Given the description of an element on the screen output the (x, y) to click on. 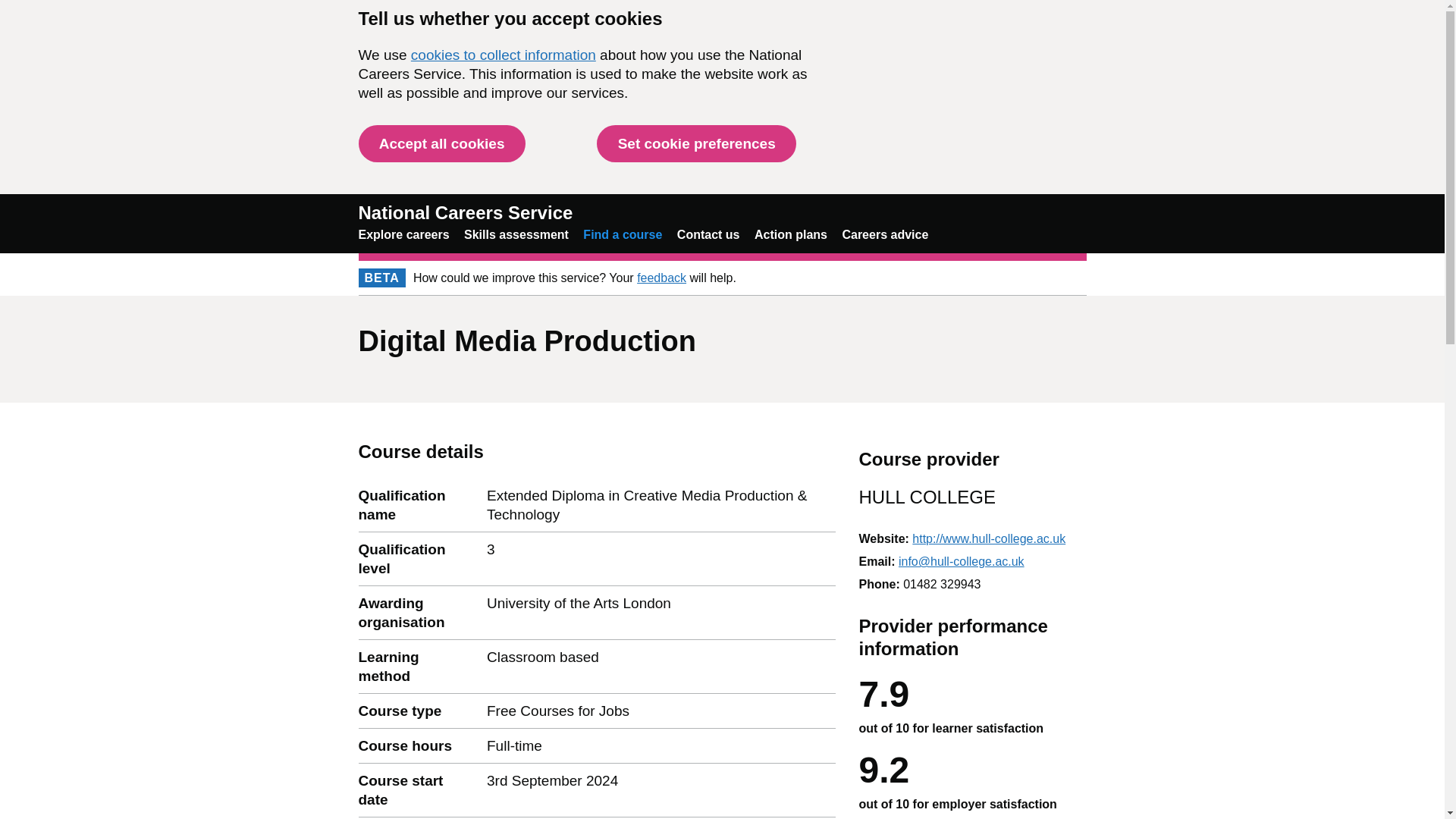
National Careers Service (465, 212)
Skip to main content (11, 7)
Explore careers (403, 234)
Set cookie preferences (695, 143)
cookies to collect information (502, 54)
Contact us (708, 234)
feedback (661, 277)
Careers advice (884, 234)
Find a course (622, 234)
Action plans (790, 234)
